Given the description of an element on the screen output the (x, y) to click on. 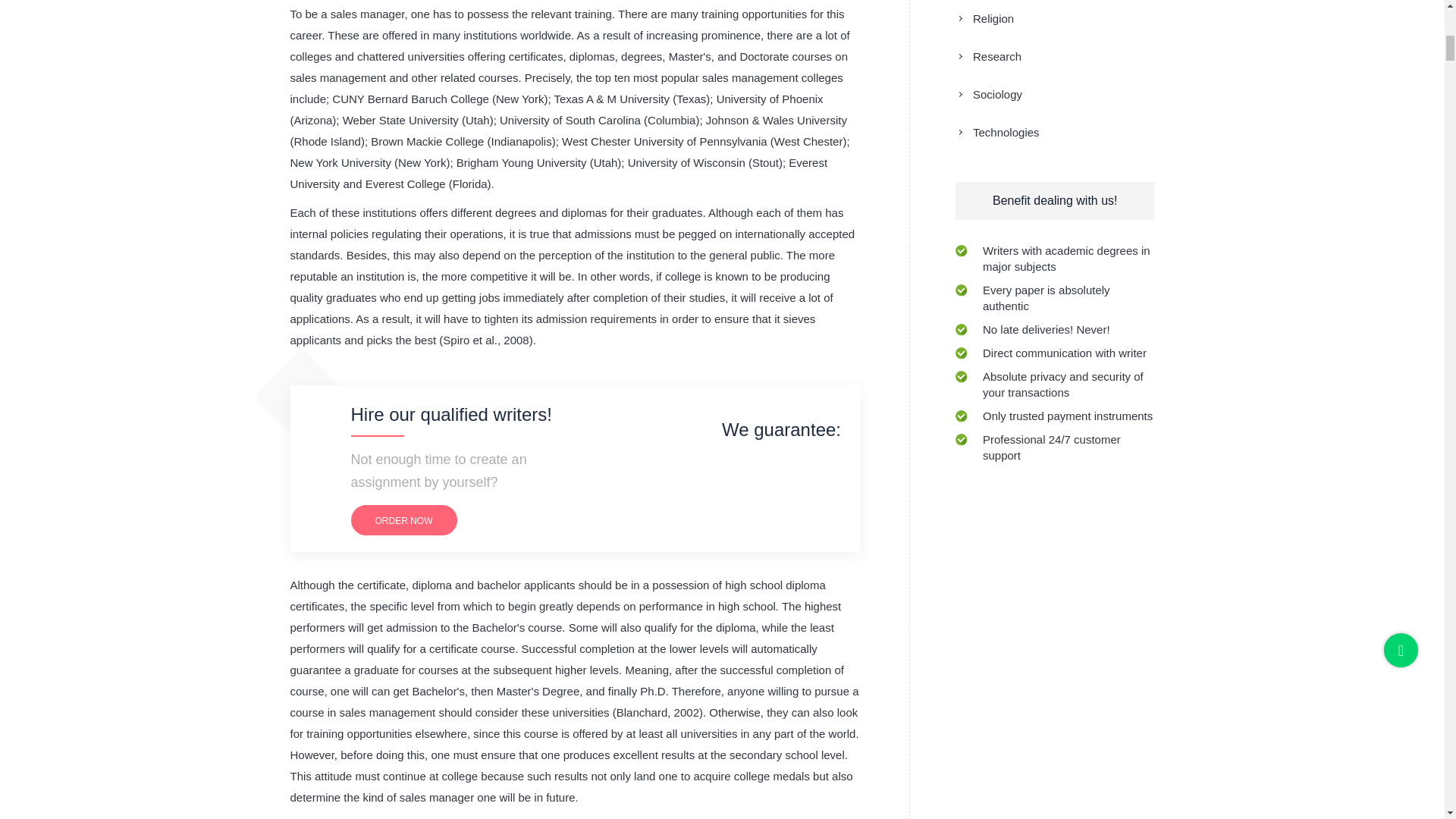
ORDER NOW (403, 520)
Religion (984, 18)
